Given the description of an element on the screen output the (x, y) to click on. 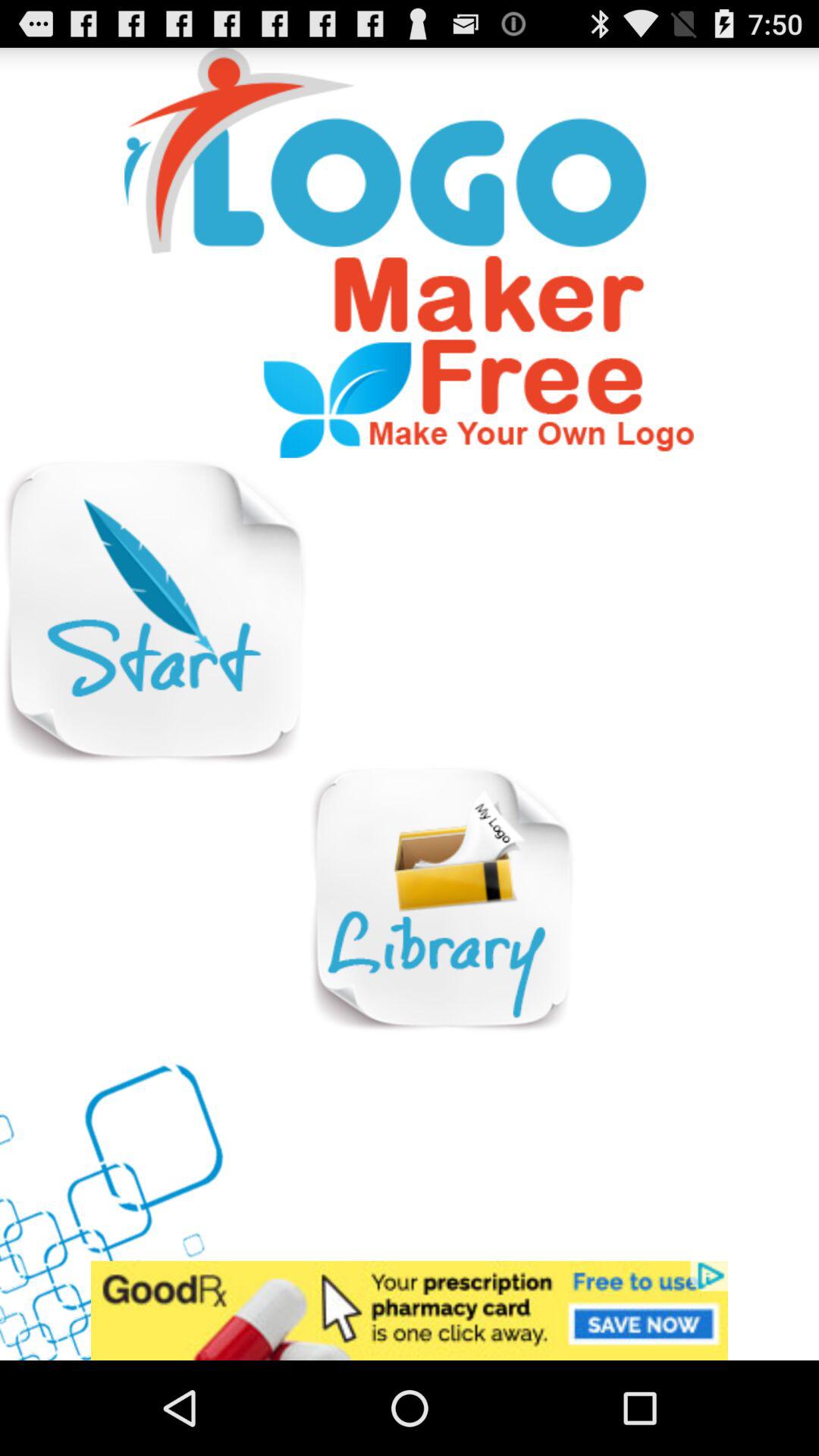
open library (441, 899)
